Given the description of an element on the screen output the (x, y) to click on. 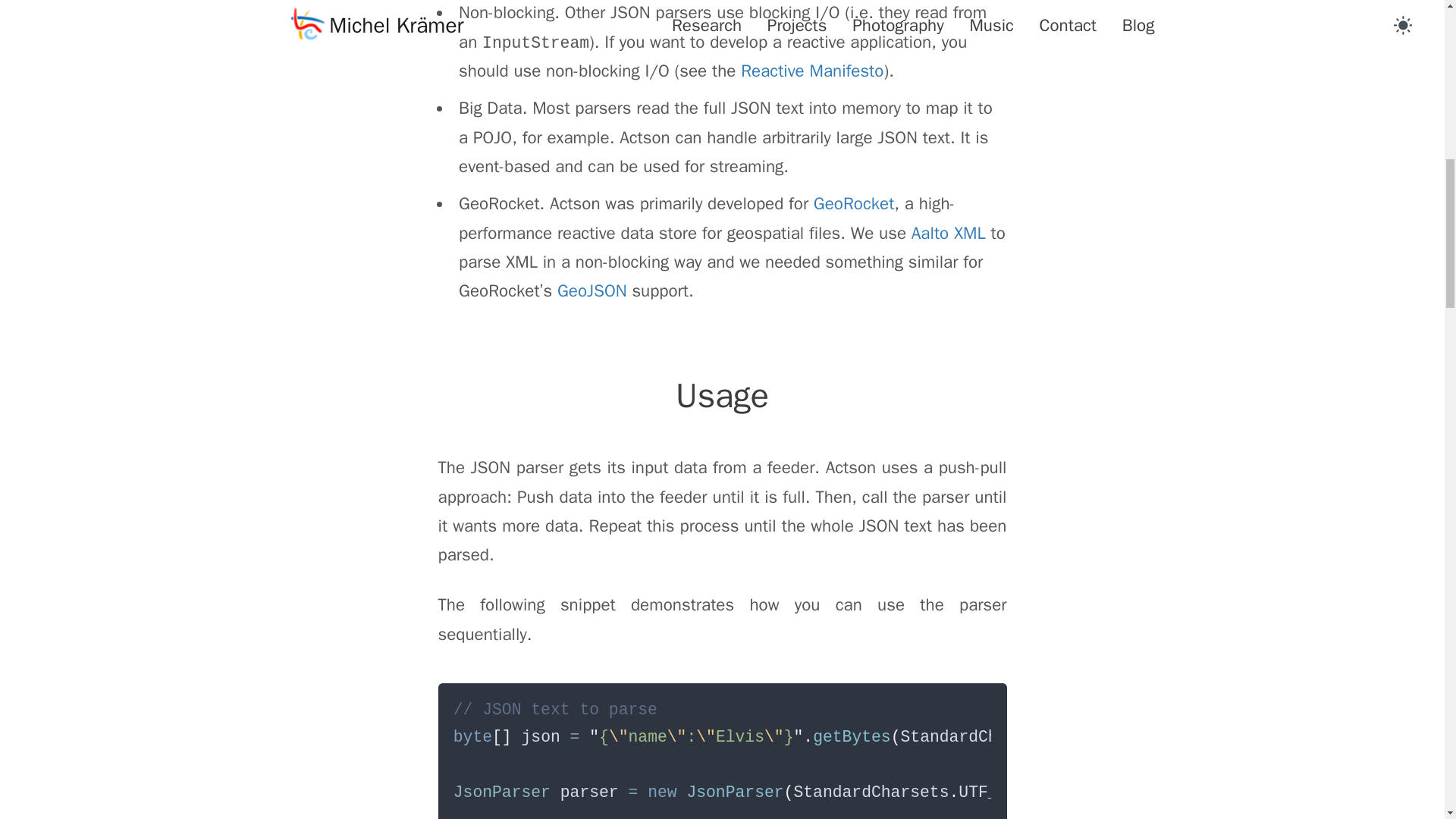
Aalto XML (948, 232)
GeoJSON (592, 291)
GeoRocket (854, 203)
Reactive Manifesto (812, 70)
